Given the description of an element on the screen output the (x, y) to click on. 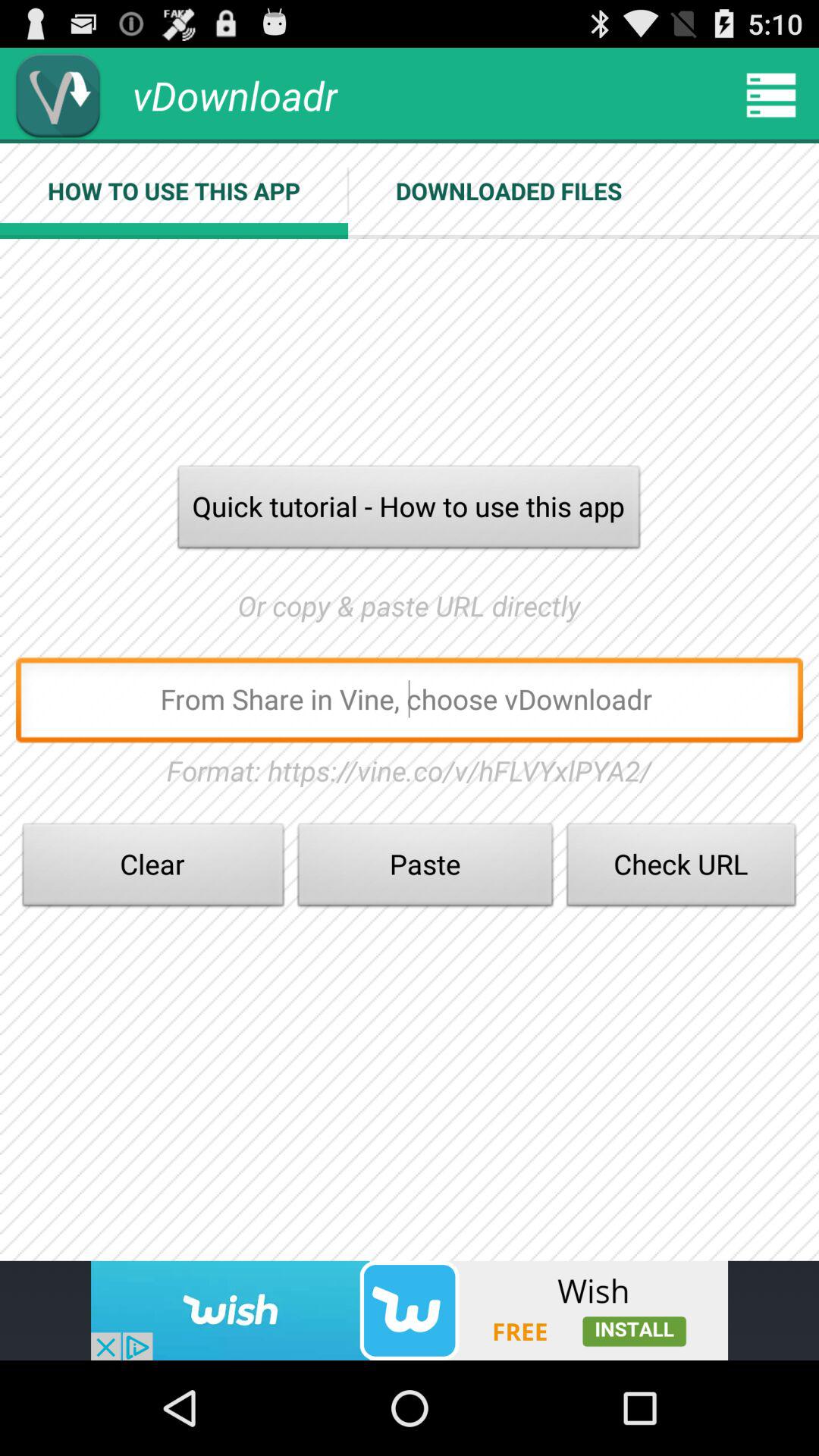
go to navigation menu (771, 95)
